Given the description of an element on the screen output the (x, y) to click on. 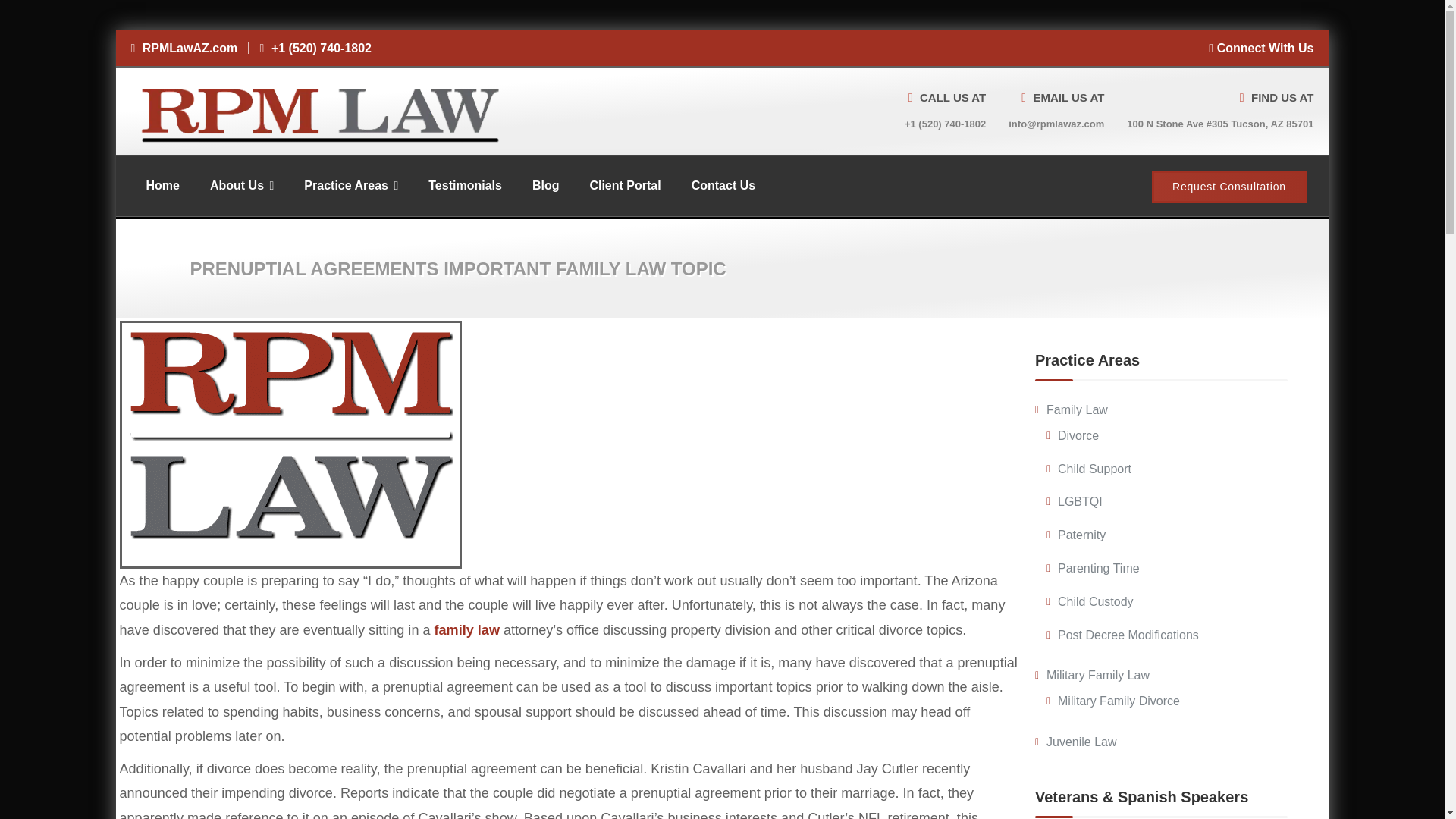
Home (162, 185)
Testimonials (464, 185)
Home (162, 185)
About Us (241, 185)
Practice Areas (350, 185)
Blog (545, 185)
Contact Us (723, 185)
About Us (241, 185)
Request Consultation (1228, 186)
Client Portal (624, 185)
 Connect With Us (1260, 47)
Practice Areas (350, 185)
Connect With Us (1260, 47)
